Given the description of an element on the screen output the (x, y) to click on. 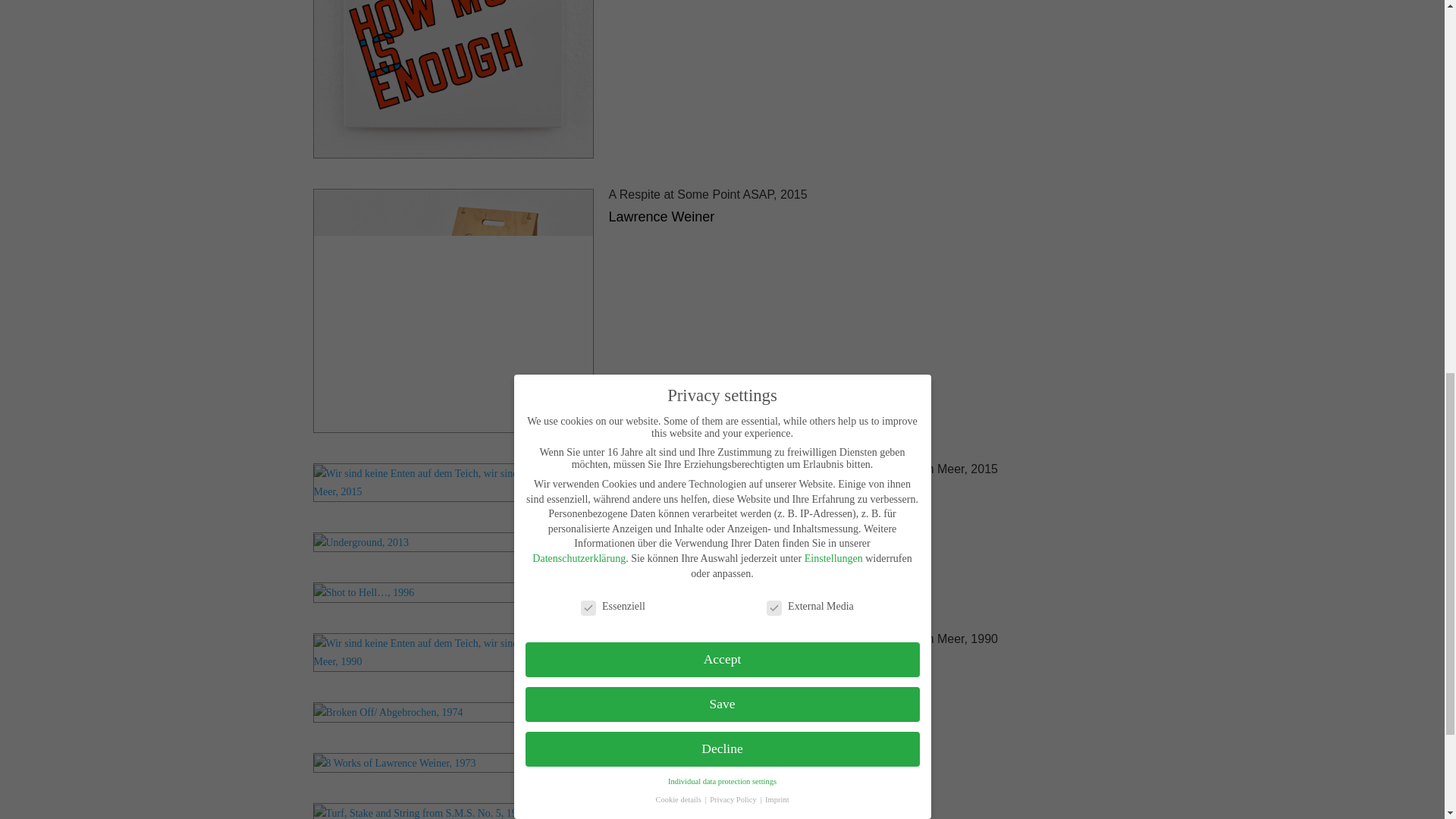
Lawrence Weiner (661, 216)
Lawrence Weiner (661, 560)
Lawrence Weiner (661, 491)
A Respite at Some Point ASAP, 2015 (707, 194)
Underground, 2013 (660, 537)
